Given the description of an element on the screen output the (x, y) to click on. 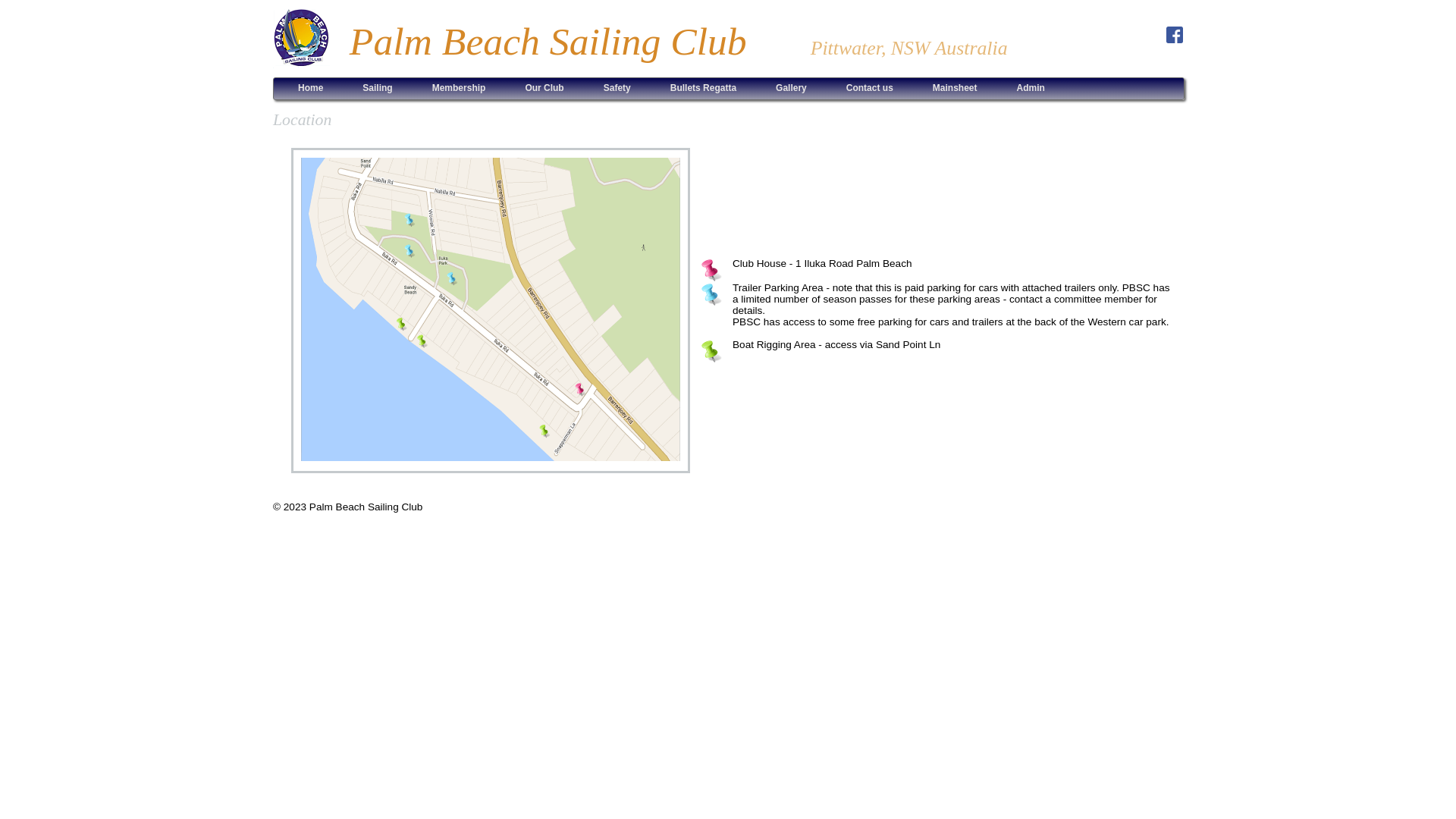
Admin Element type: text (1030, 88)
Mainsheet Element type: text (954, 88)
Contact us Element type: text (869, 88)
Safety Element type: text (617, 88)
Find us on Facebook Element type: hover (1174, 29)
Membership Element type: text (459, 88)
Home Element type: text (310, 88)
Bullets Regatta Element type: text (703, 88)
Our Club Element type: text (543, 88)
Gallery Element type: text (791, 88)
Sailing Element type: text (377, 88)
